Given the description of an element on the screen output the (x, y) to click on. 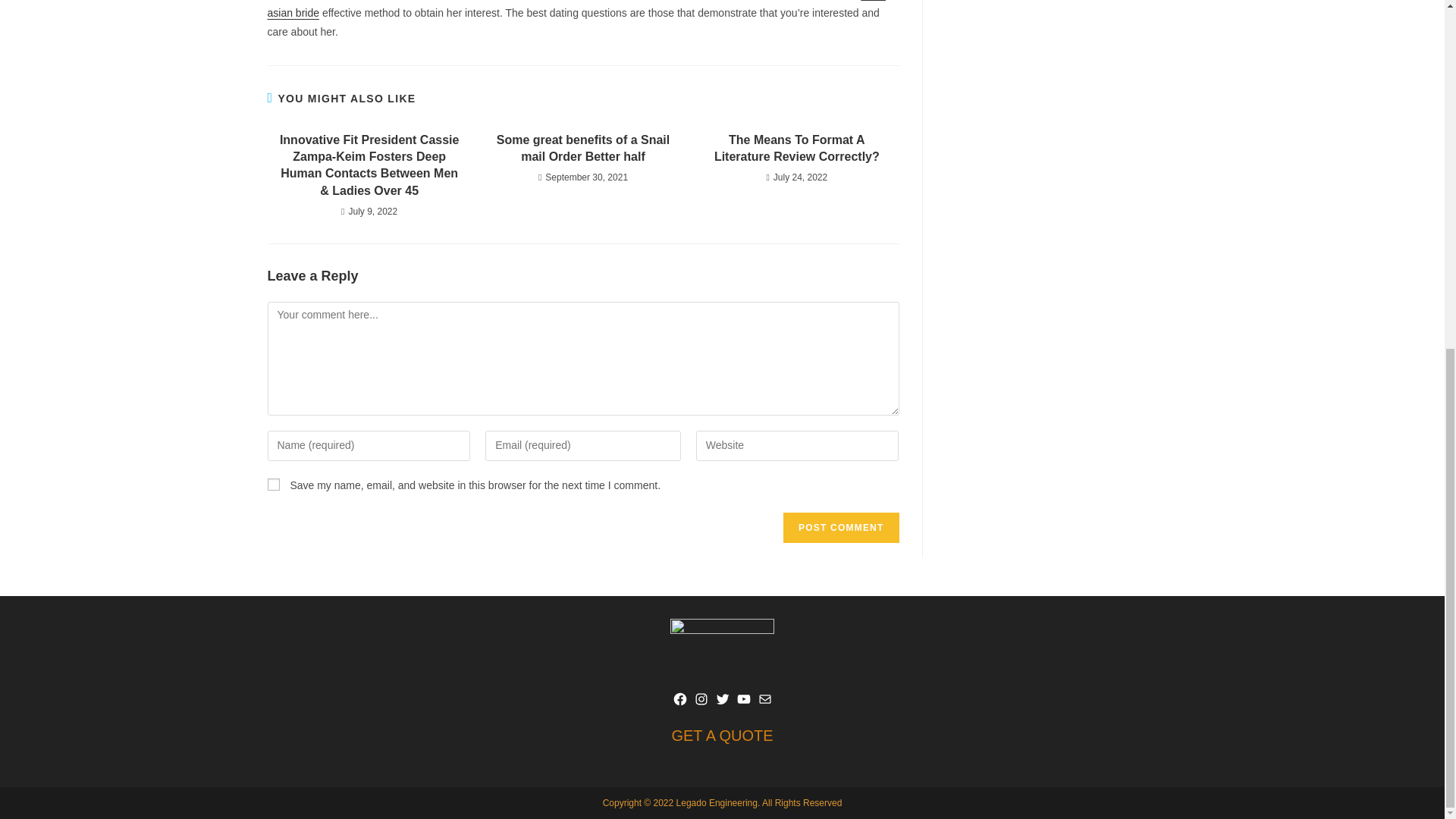
yes (272, 484)
Twitter (721, 698)
Mail (764, 698)
Post Comment (840, 527)
Post Comment (840, 527)
The Means To Format A Literature Review Correctly? (796, 148)
Facebook (679, 698)
Instagram (700, 698)
Some great benefits of a Snail mail Order Better half (582, 148)
YouTube (743, 698)
order asian bride (575, 9)
